Given the description of an element on the screen output the (x, y) to click on. 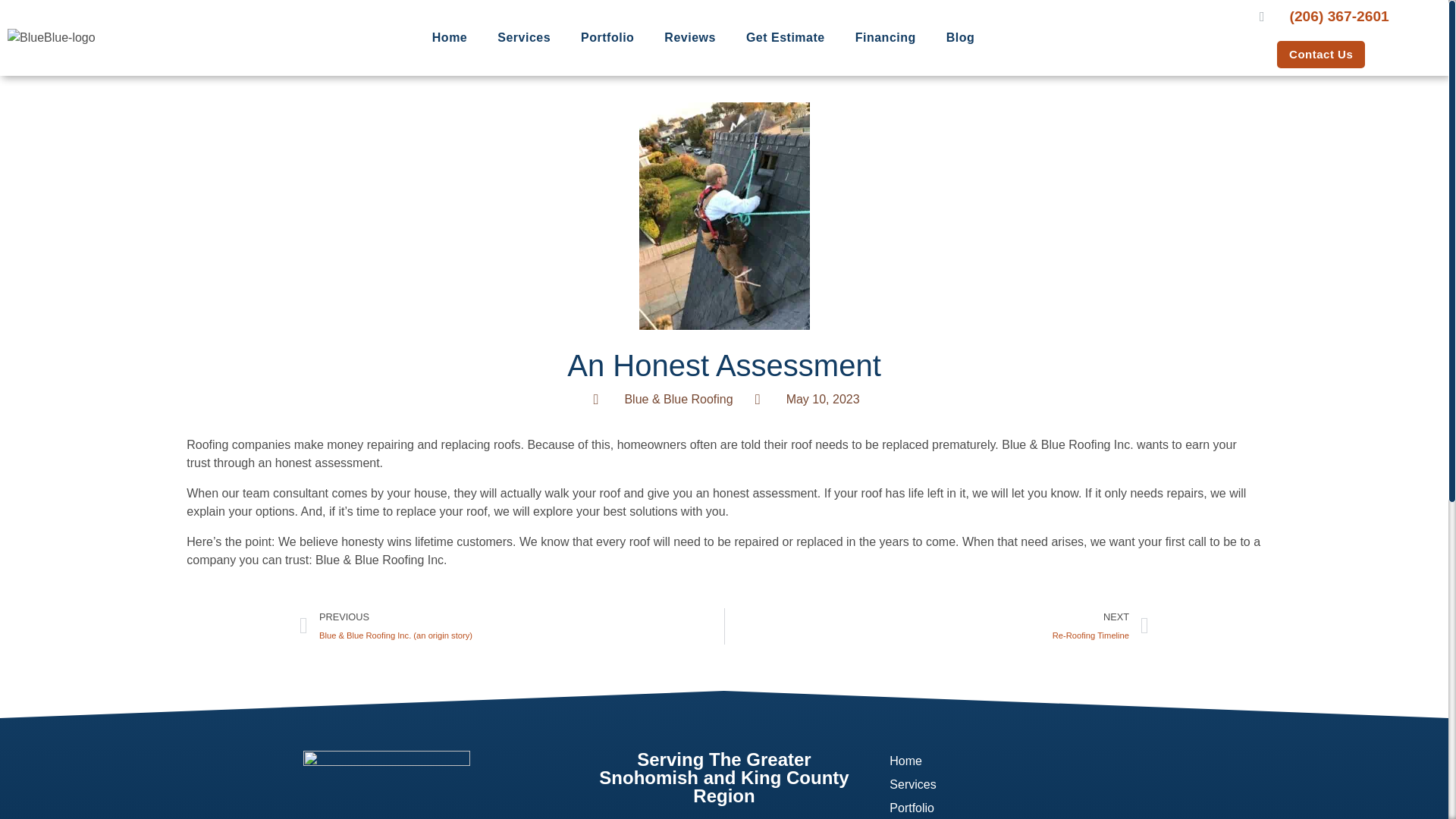
Financing (885, 37)
Portfolio (1009, 807)
Services (937, 626)
Home (523, 37)
May 10, 2023 (1009, 761)
Get Estimate (805, 398)
Contact Us (785, 37)
Reviews (1320, 53)
BlueBlue-logo (689, 37)
